Given the description of an element on the screen output the (x, y) to click on. 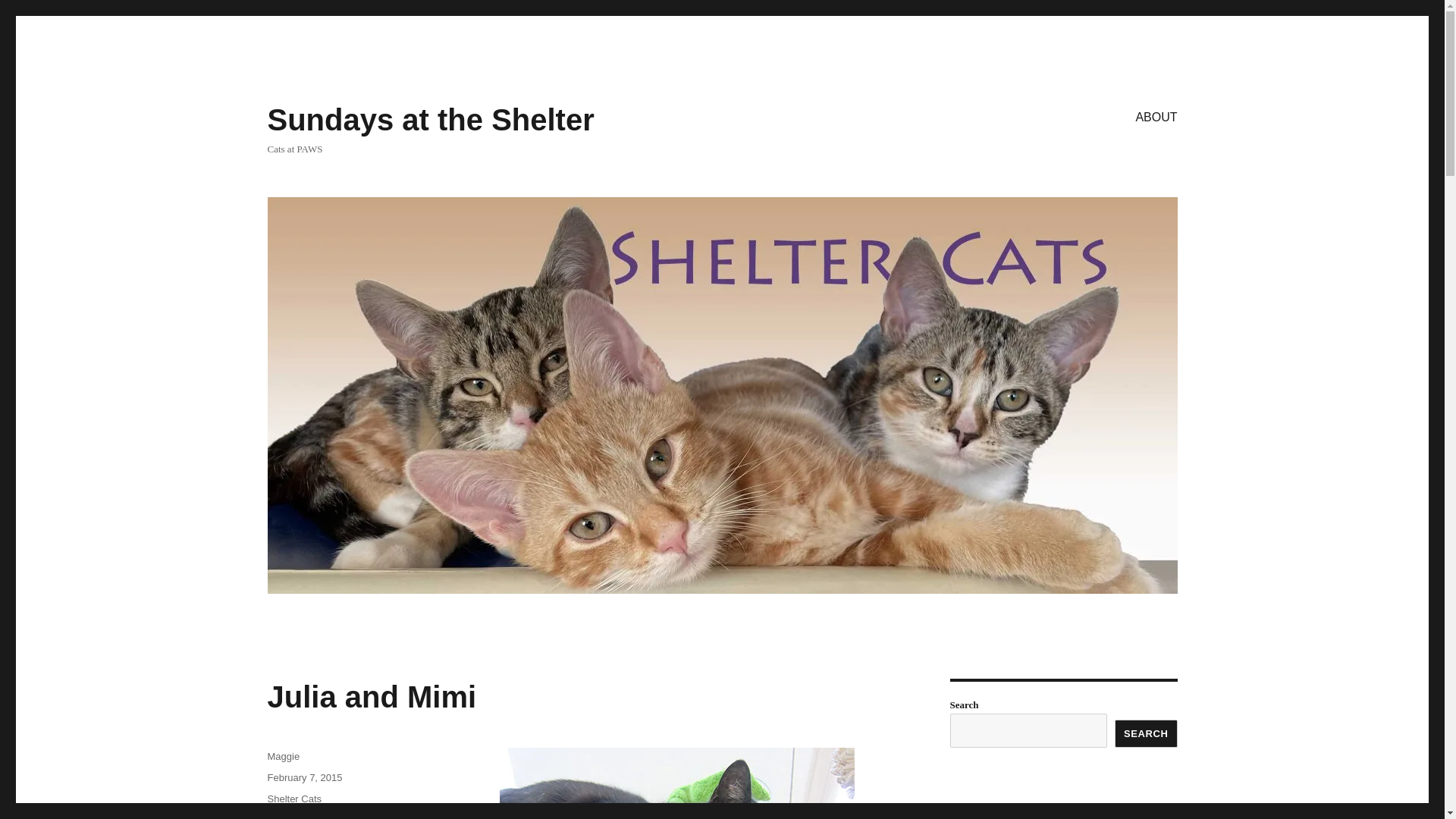
Shelter Cats (293, 798)
February 7, 2015 (304, 777)
Maggie (282, 756)
black cat (285, 816)
PAWS animal shelter (318, 816)
Sundays at the Shelter (430, 119)
ABOUT (1156, 116)
